Given the description of an element on the screen output the (x, y) to click on. 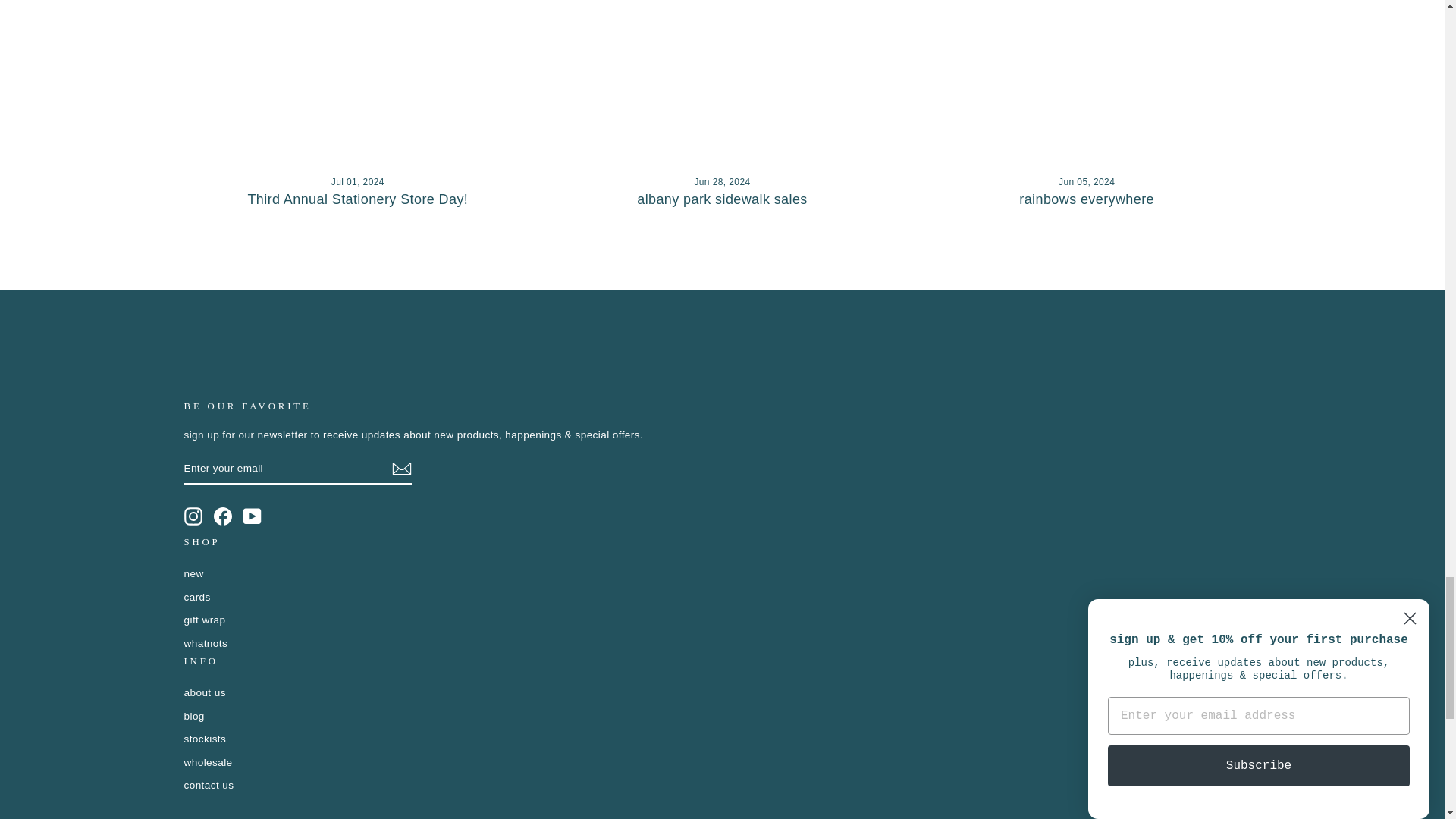
instagram (192, 515)
a. favorite design on Instagram (192, 515)
a. favorite design on Facebook (222, 515)
a. favorite design on YouTube (251, 515)
icon-email (400, 468)
